Given the description of an element on the screen output the (x, y) to click on. 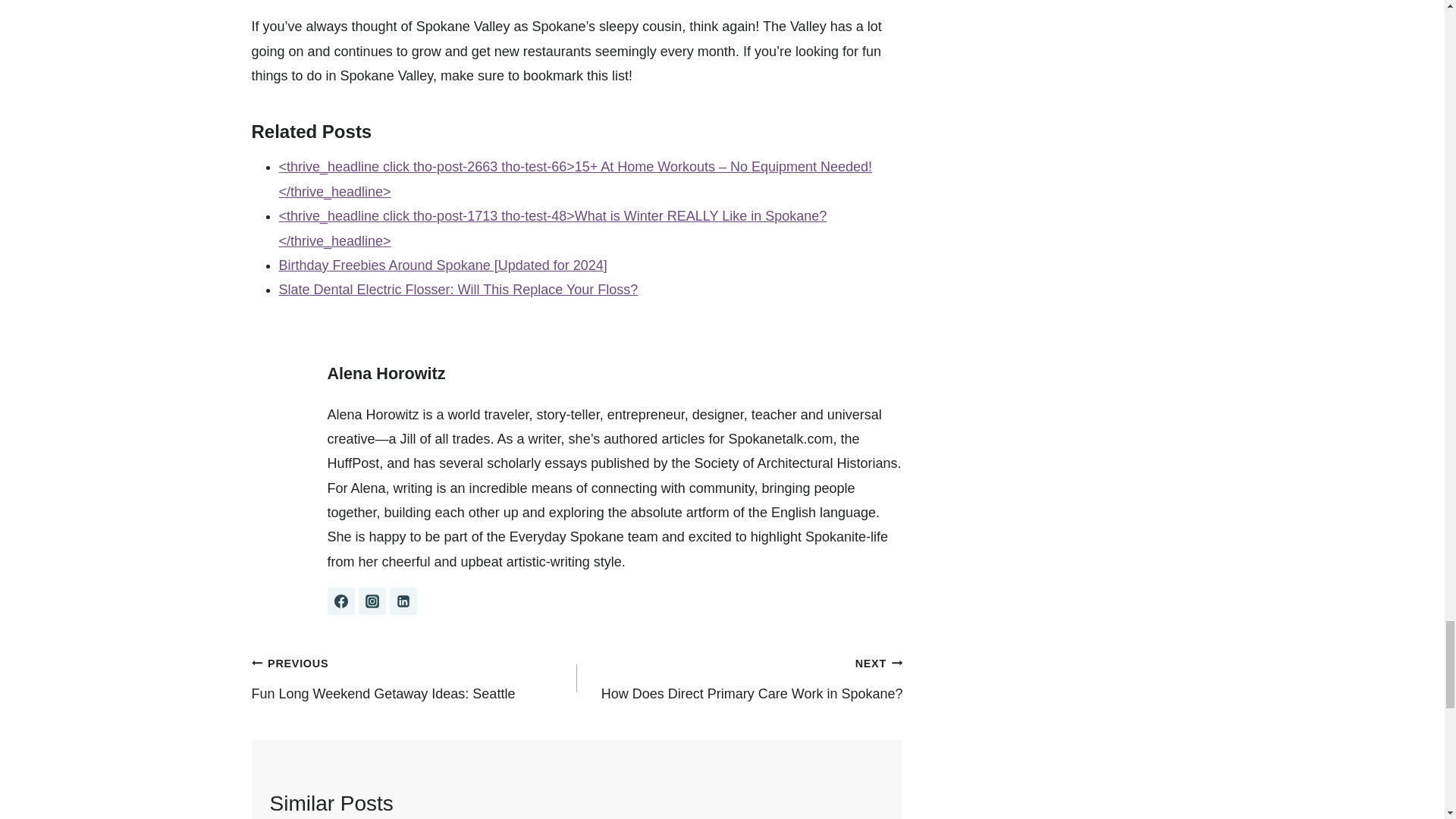
Follow Alena Horowitz on Facebook (341, 601)
Posts by Alena Horowitz (386, 373)
Follow Alena Horowitz on Instagram (371, 601)
Follow Alena Horowitz on Linkedin (403, 601)
